Given the description of an element on the screen output the (x, y) to click on. 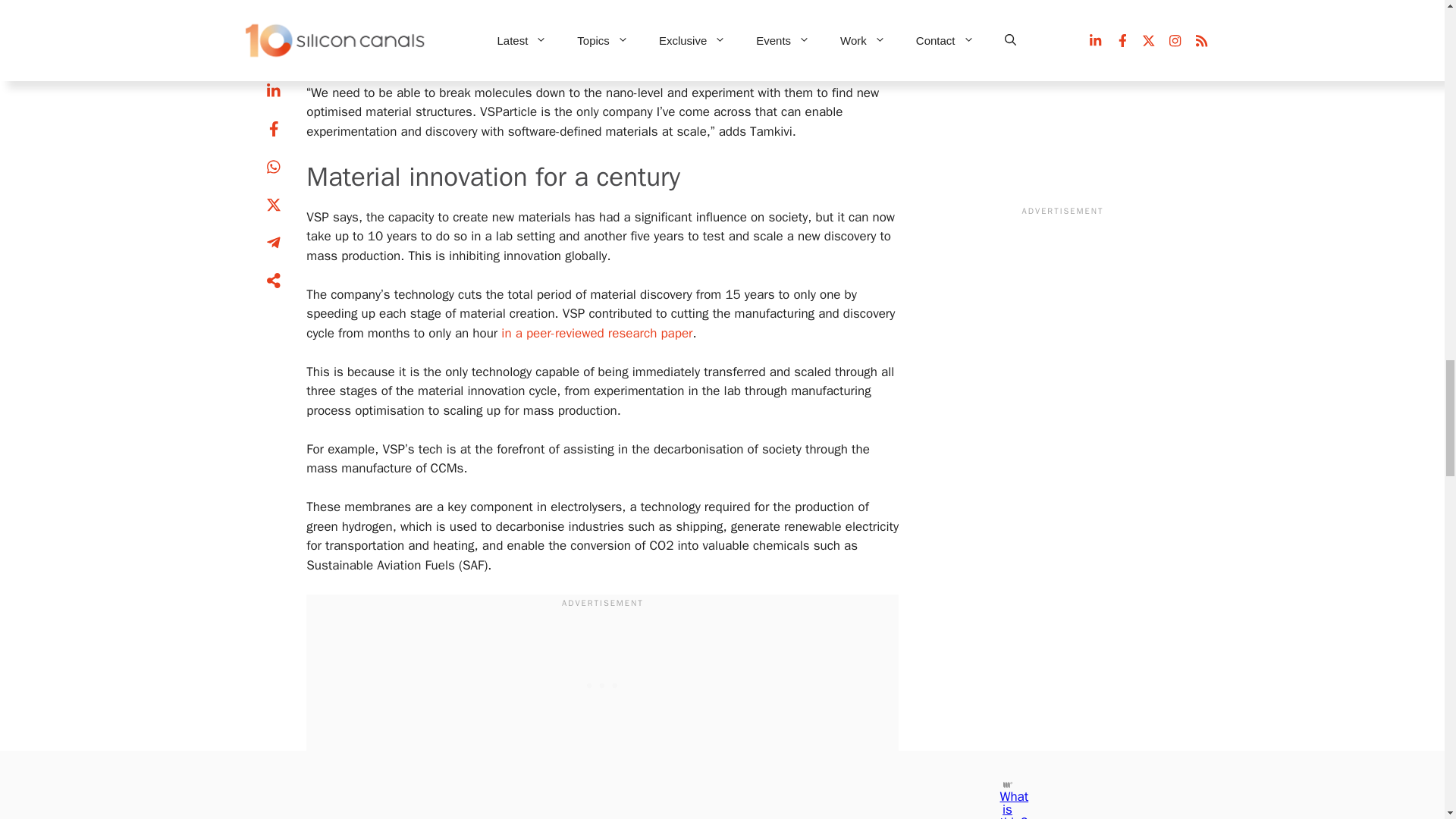
3rd party ad content (602, 683)
